Given the description of an element on the screen output the (x, y) to click on. 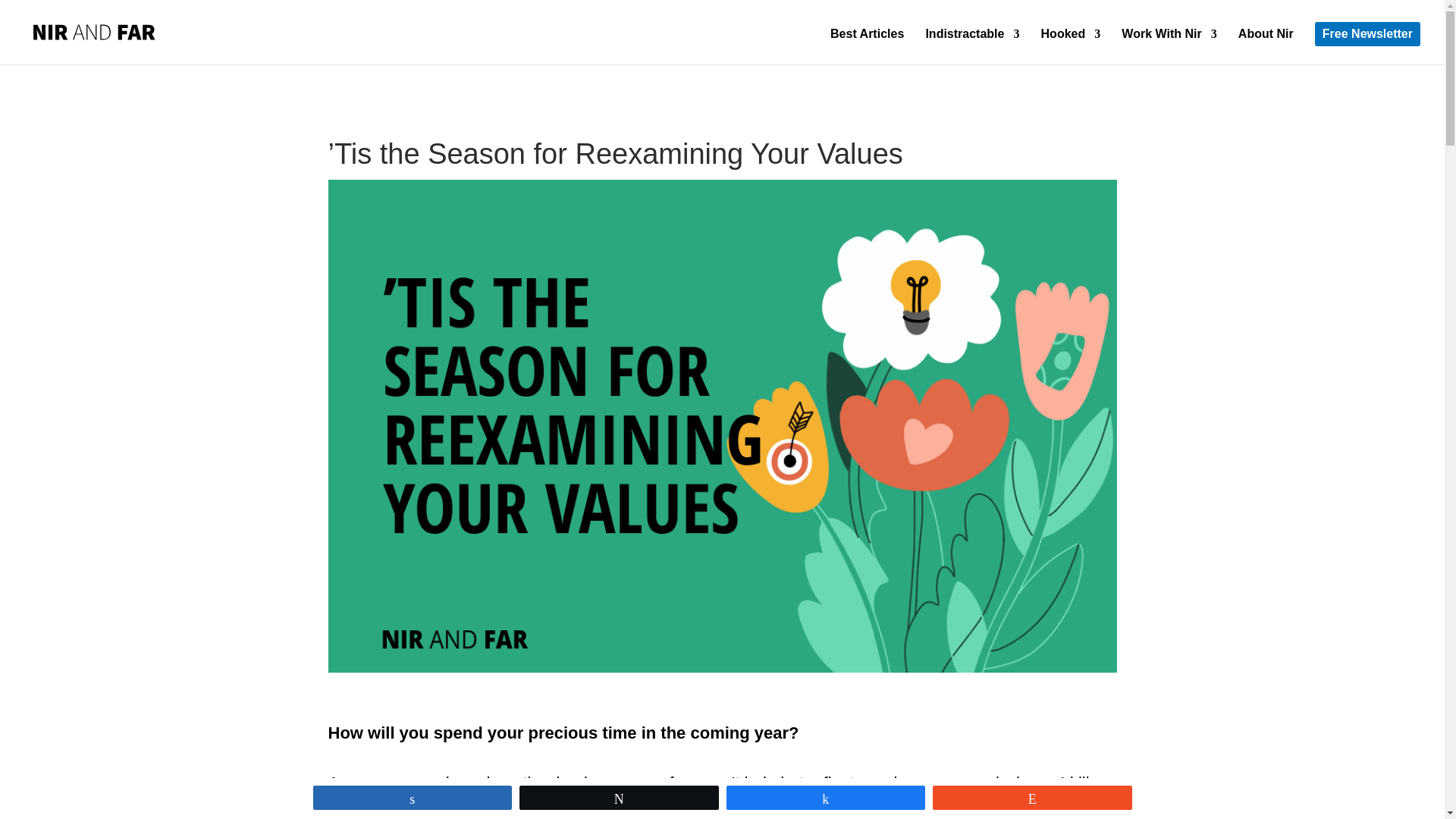
About Nir (1266, 46)
Indistractable (971, 46)
Free Newsletter (1367, 33)
Work With Nir (1168, 46)
Best Articles (866, 46)
Hooked (1070, 46)
